Given the description of an element on the screen output the (x, y) to click on. 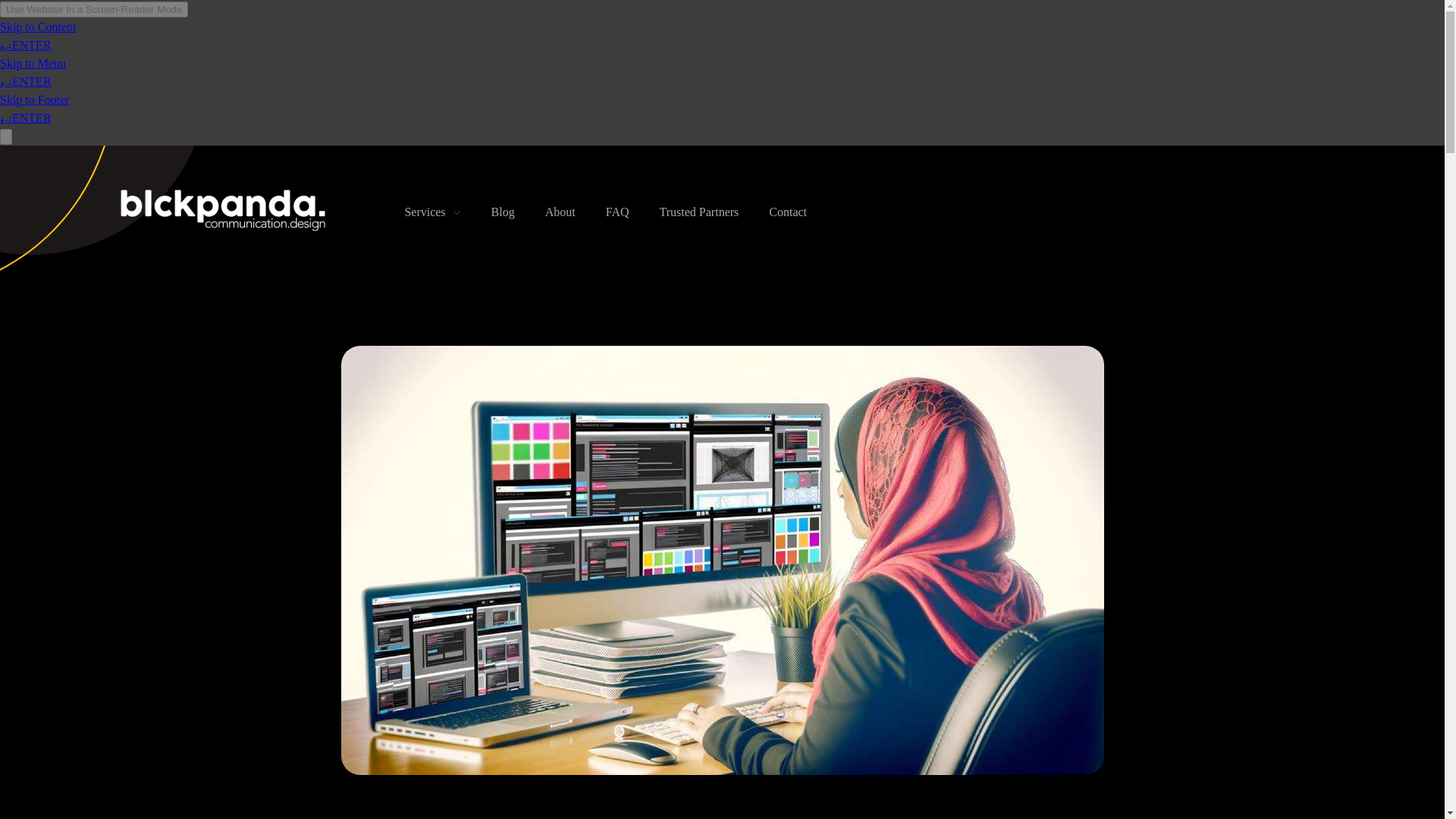
BlckPanda Creative (200, 242)
Services (452, 212)
BlckPanda Creative (223, 209)
Blogs (520, 212)
